Given the description of an element on the screen output the (x, y) to click on. 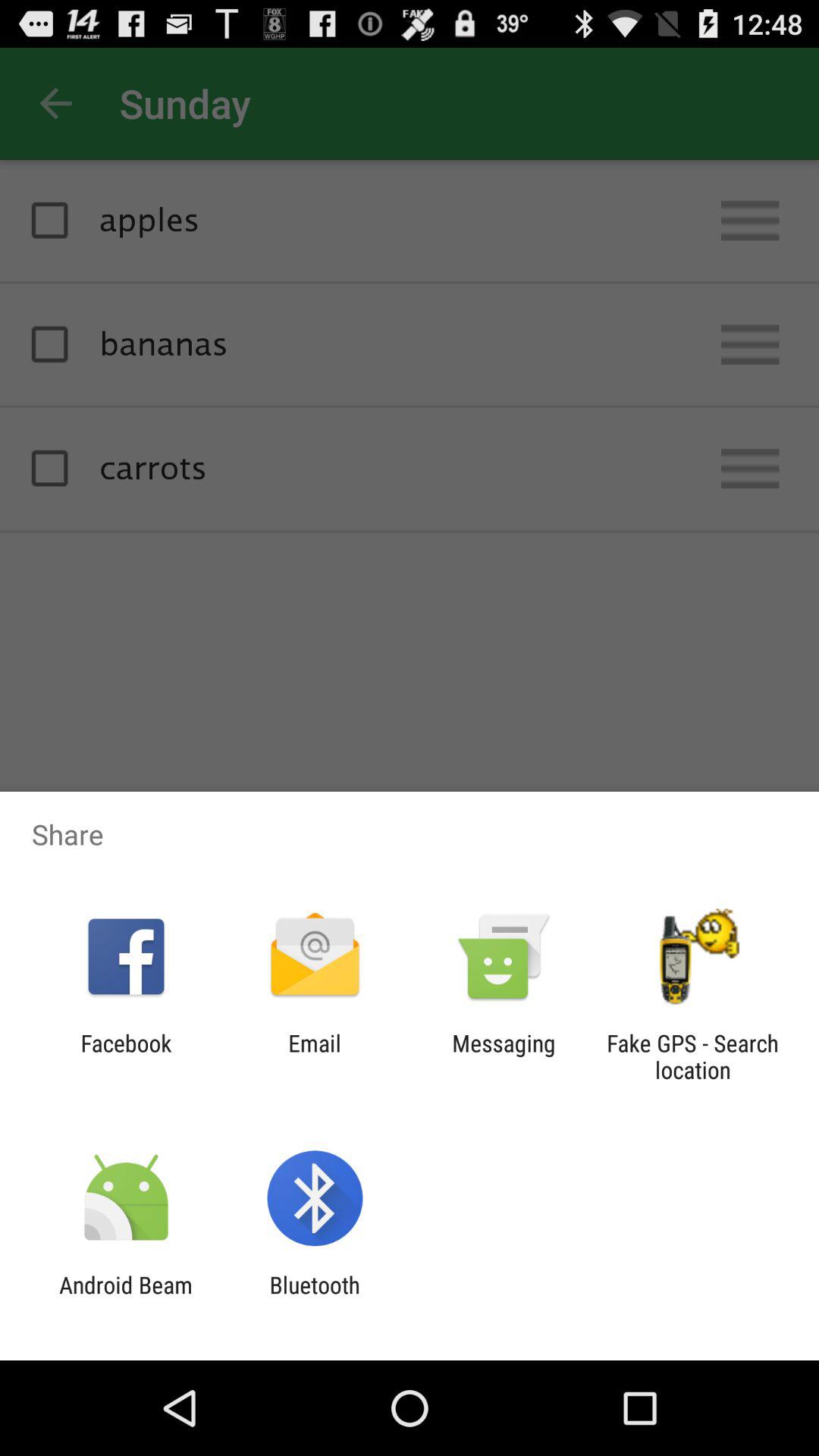
tap android beam icon (125, 1298)
